Given the description of an element on the screen output the (x, y) to click on. 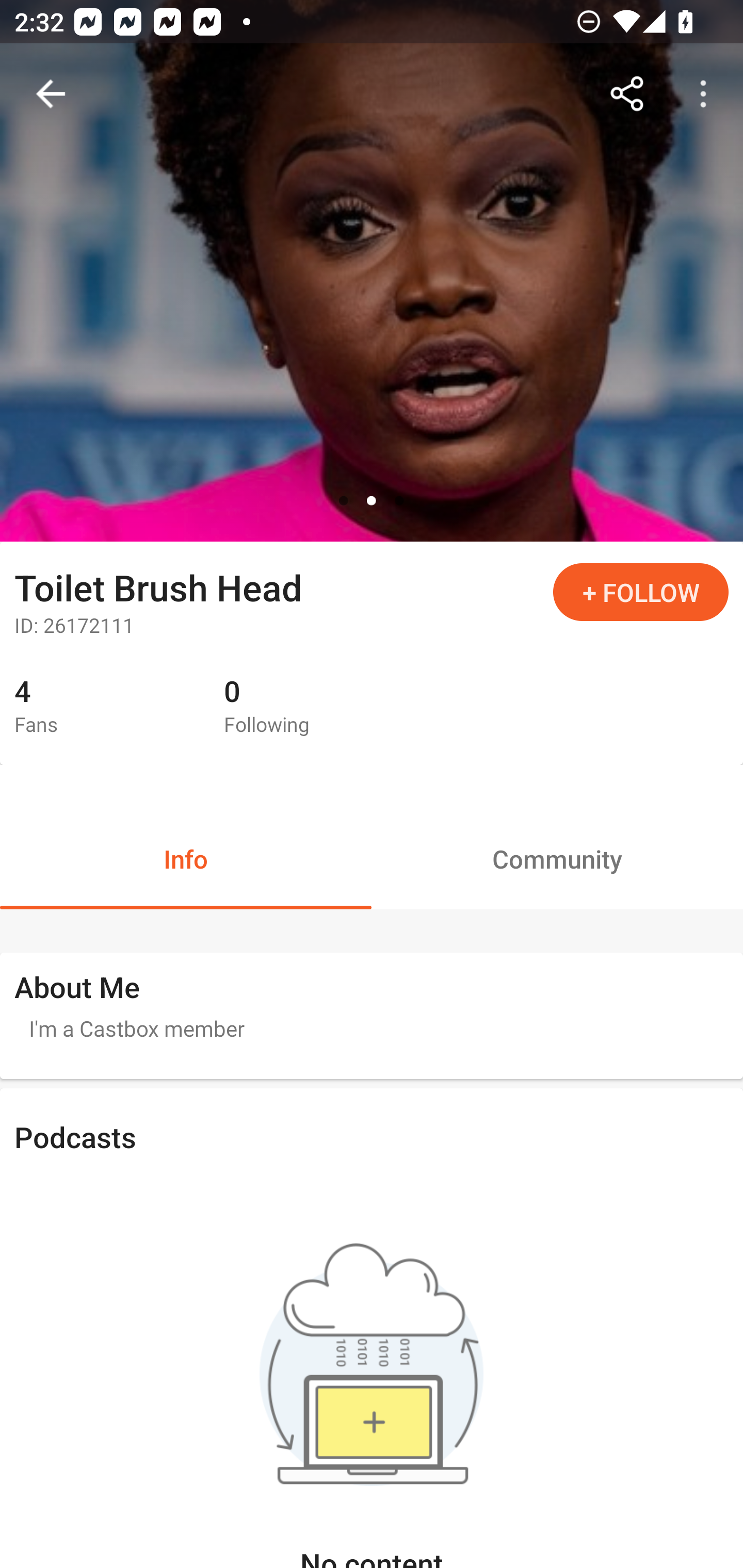
Navigate up (50, 93)
Share (626, 93)
More options (706, 93)
+ FOLLOW (640, 591)
4 Fans (104, 707)
0 Following (313, 707)
Info (185, 858)
Community (557, 858)
